Given the description of an element on the screen output the (x, y) to click on. 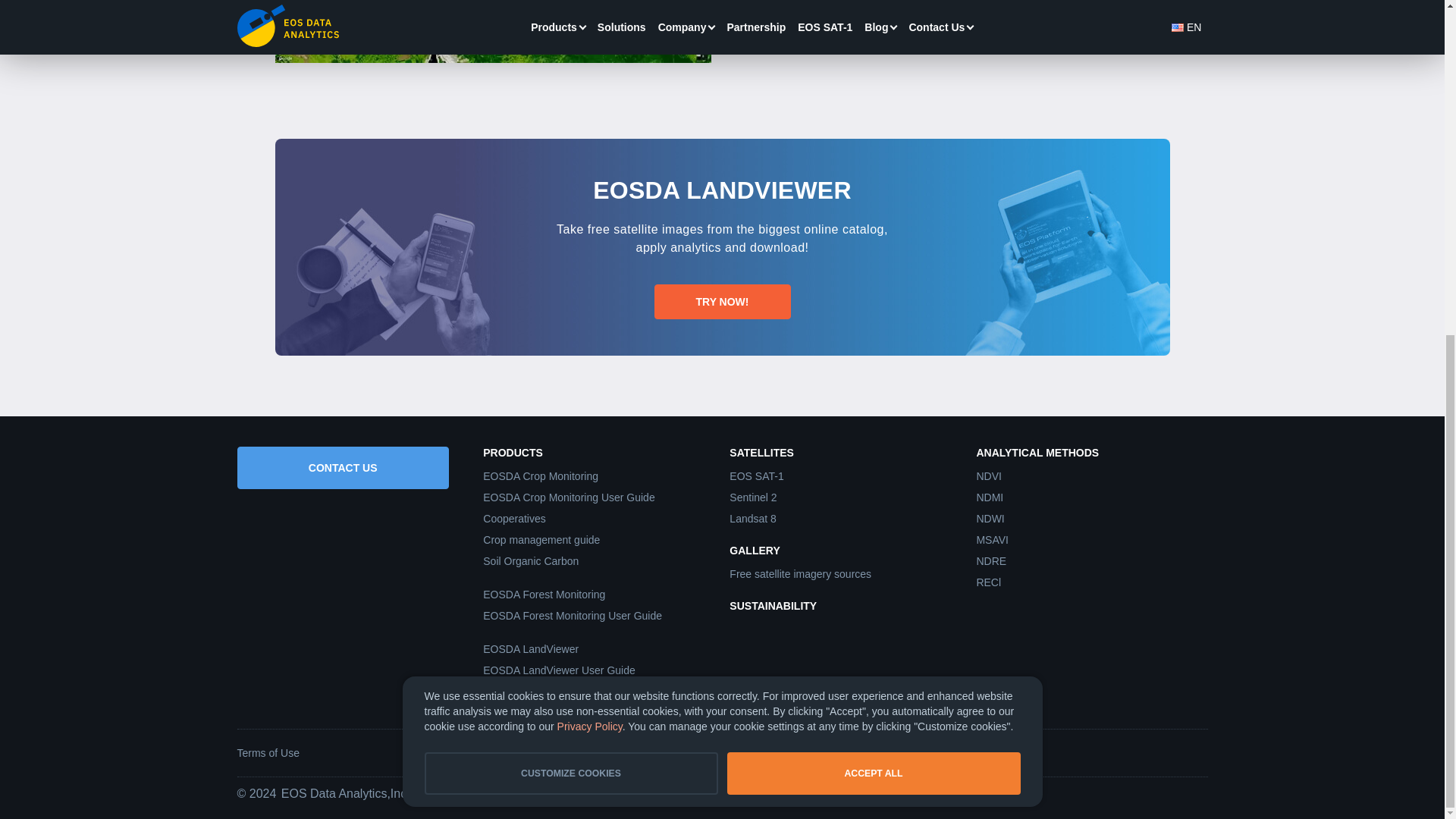
Visit EOS on LinkedIn (1081, 753)
Connect with us on Facebook (1043, 753)
Follow us on Youtube (1196, 753)
Follow us on Instagram (1158, 753)
Follow us on Twitter (1119, 753)
